Given the description of an element on the screen output the (x, y) to click on. 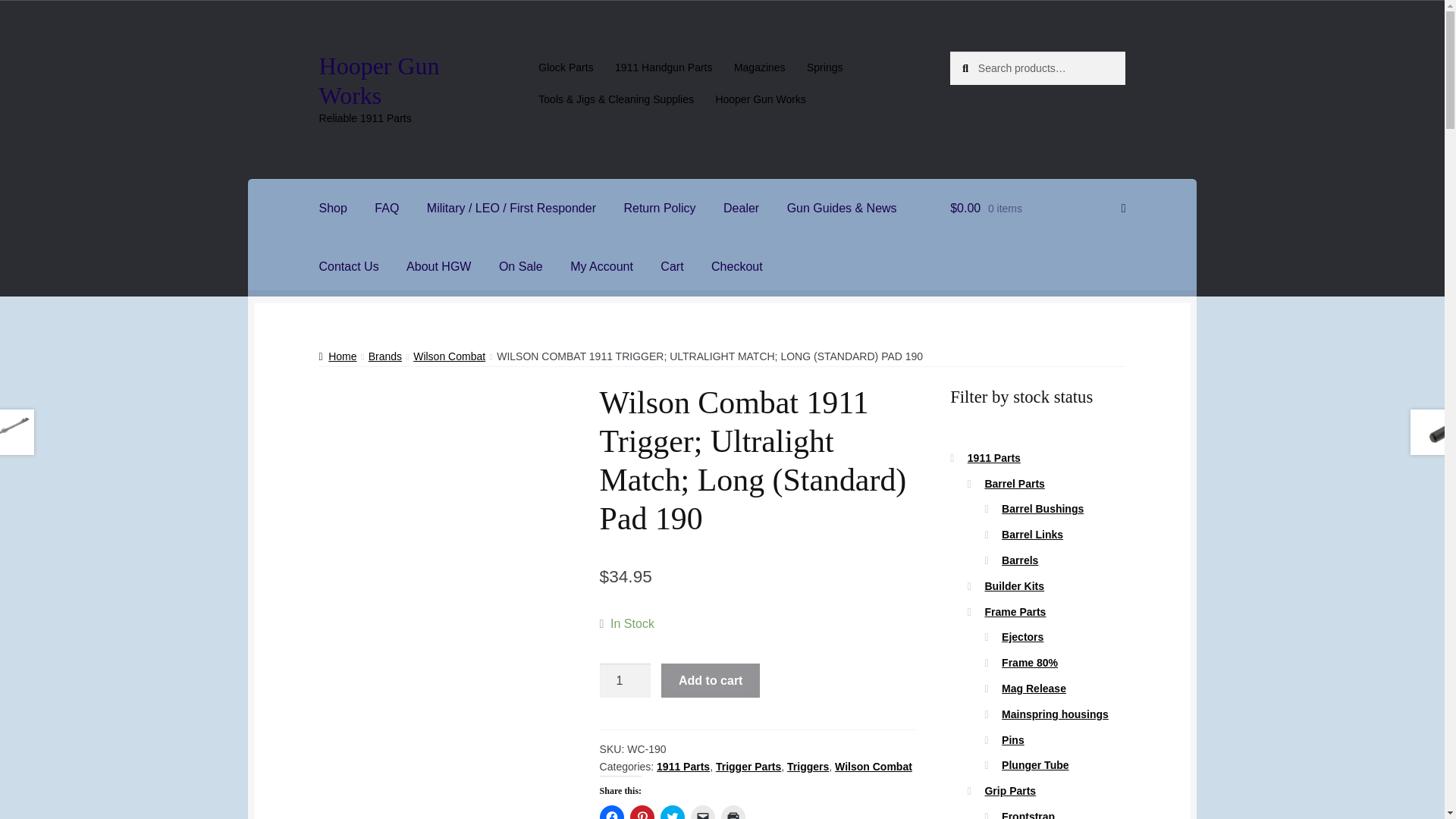
Hooper Gun Works (378, 80)
Click to share on Facebook (611, 812)
Click to print (732, 812)
Click to share on Pinterest (641, 812)
1911 Handgun Parts (663, 67)
View your shopping cart (1037, 208)
Glock Parts (565, 67)
Click to share on Twitter (672, 812)
1 (624, 680)
Click to email a link to a friend (702, 812)
